Given the description of an element on the screen output the (x, y) to click on. 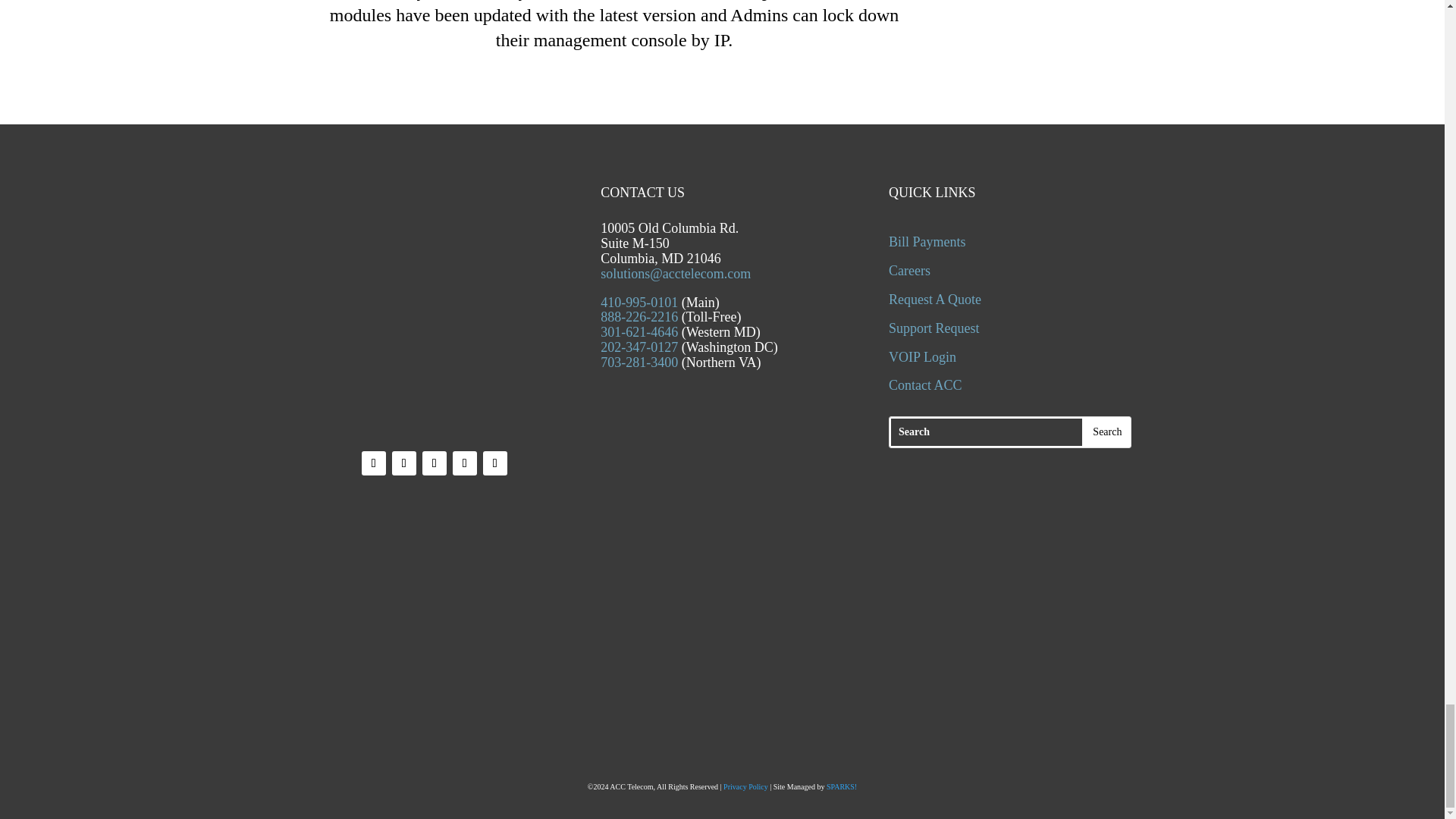
Search (1107, 434)
Follow on Facebook (373, 463)
Follow on Youtube (464, 463)
Follow on RSS (494, 463)
Follow on X (403, 463)
Search (1107, 434)
Follow on LinkedIn (434, 463)
